Given the description of an element on the screen output the (x, y) to click on. 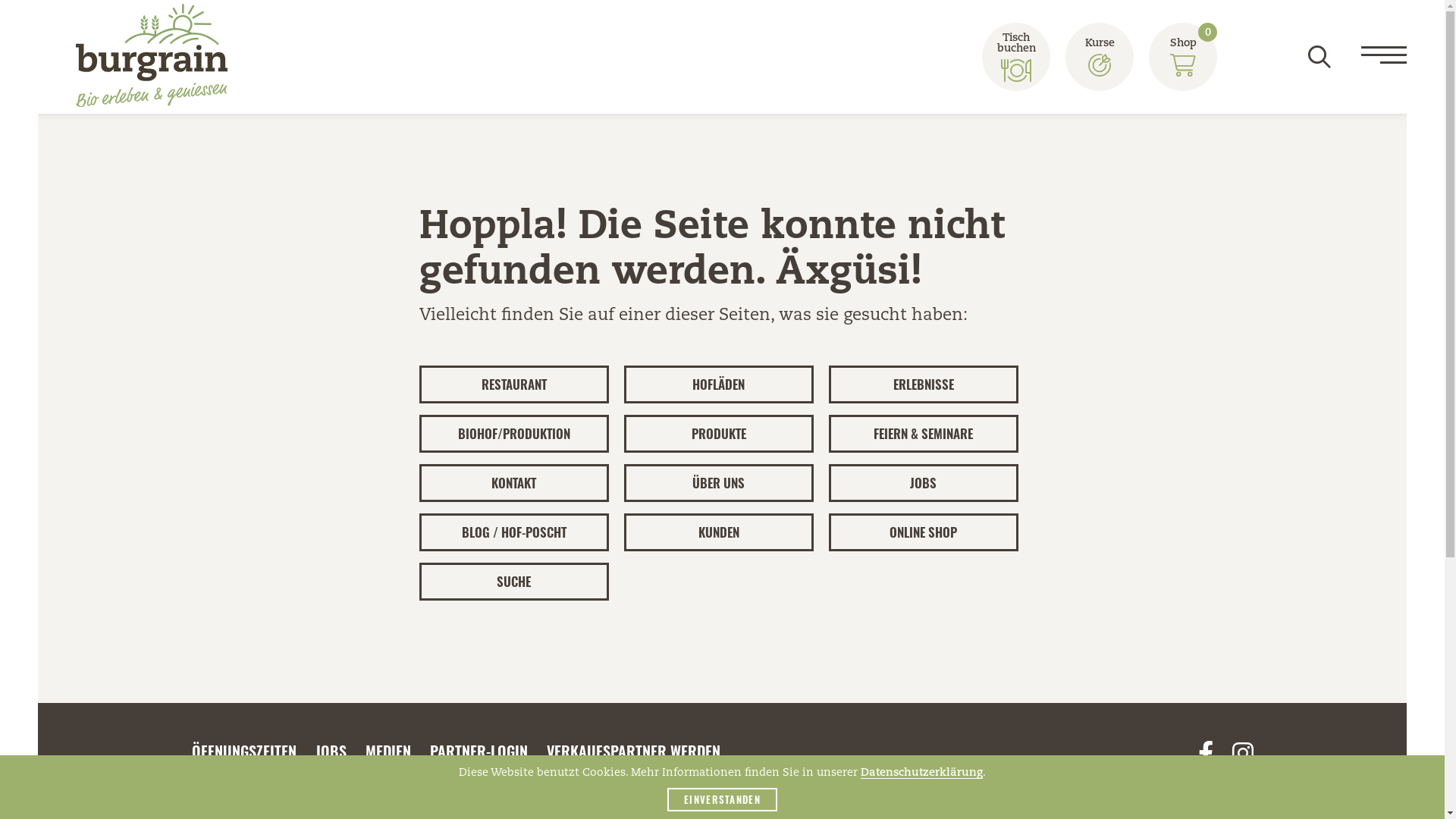
ERLEBNISSE Element type: text (922, 384)
ONLINE SHOP Element type: text (922, 532)
EINVERSTANDEN Element type: text (722, 799)
MEDIEN Element type: text (388, 750)
FEIERN & SEMINARE Element type: text (922, 433)
VERKAUFSPARTNER WERDEN Element type: text (632, 750)
PARTNER-LOGIN Element type: text (478, 750)
KUNDEN Element type: text (717, 532)
KONTAKT Element type: text (513, 483)
Tisch buchen Element type: text (1016, 56)
JOBS Element type: text (330, 750)
SUCHE Element type: text (513, 581)
Shop
0 Element type: text (1182, 56)
Agrovision Burgrain AG @ Instagram Element type: hover (1241, 754)
Kurse Element type: text (1099, 56)
RESTAURANT Element type: text (513, 384)
PRODUKTE Element type: text (717, 433)
BLOG / HOF-POSCHT Element type: text (513, 532)
Agrovision Burgrain AG Element type: hover (151, 57)
BIOHOF/PRODUKTION Element type: text (513, 433)
Agrovision Burgrain AG @ Facebook Element type: hover (1205, 754)
JOBS Element type: text (922, 483)
